Given the description of an element on the screen output the (x, y) to click on. 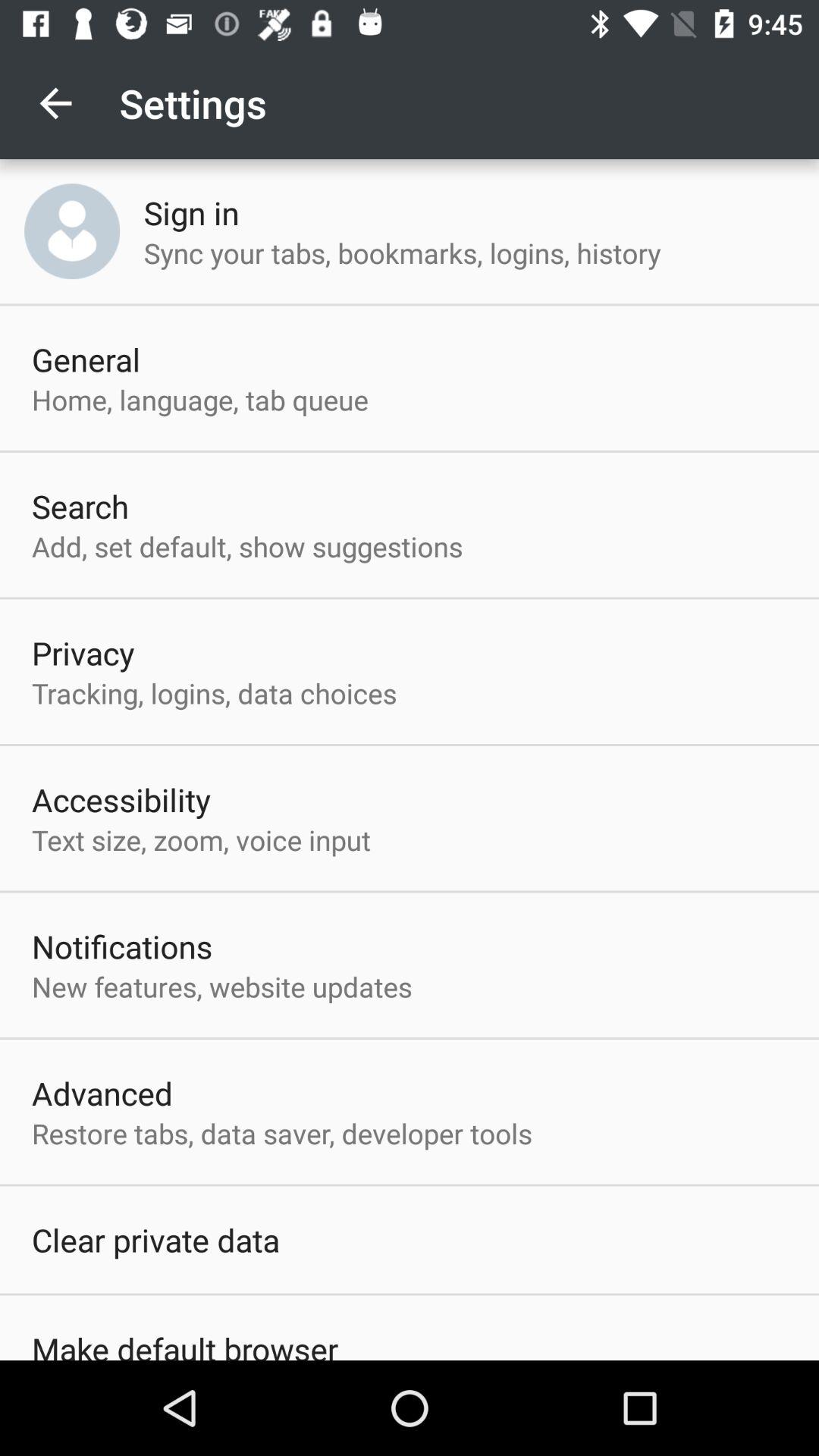
click item above new features website item (121, 946)
